Given the description of an element on the screen output the (x, y) to click on. 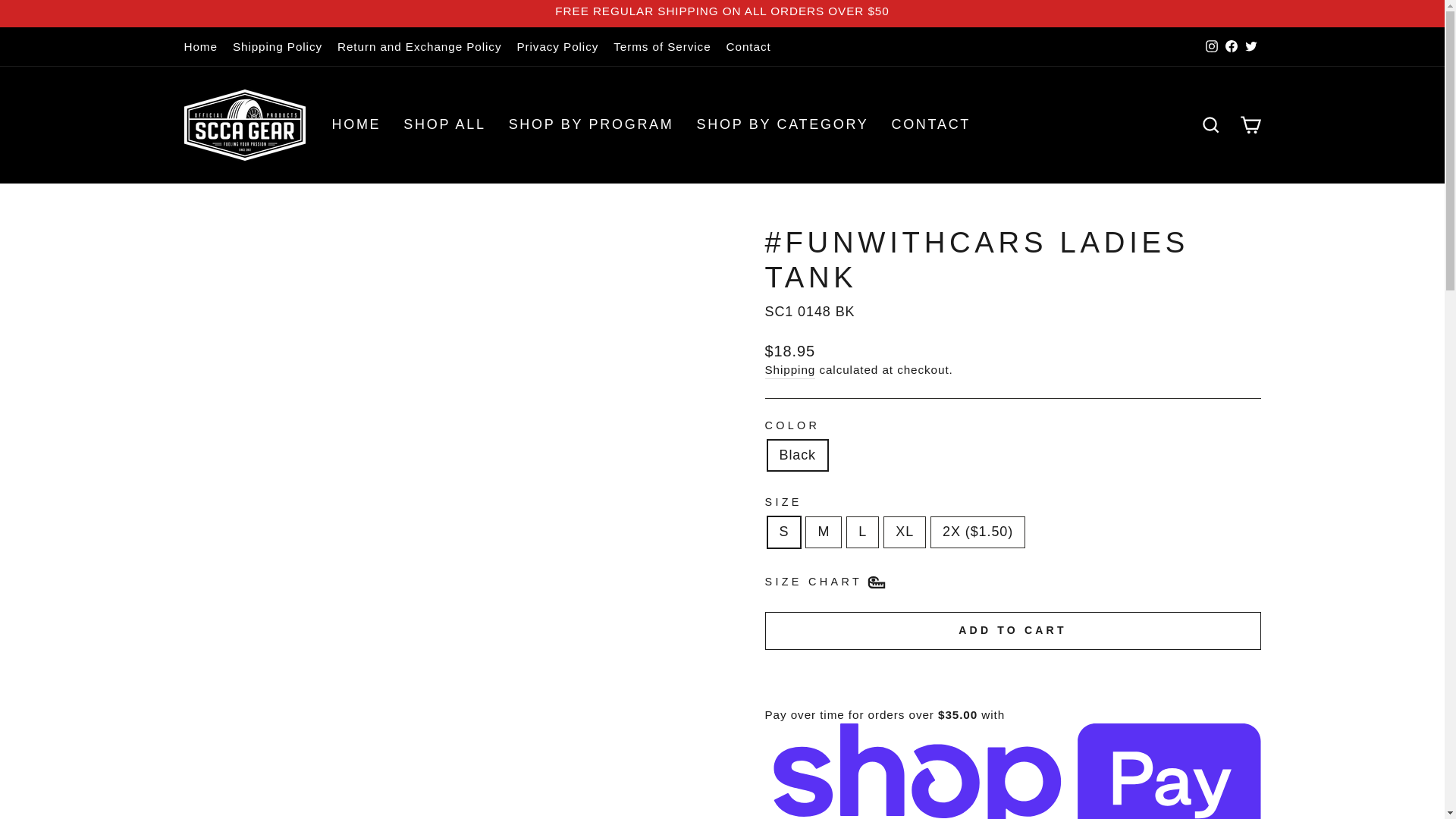
SCCA Gear on Twitter (1250, 46)
SCCA Gear on Instagram (1211, 46)
SCCA Gear on Facebook (1230, 46)
